Given the description of an element on the screen output the (x, y) to click on. 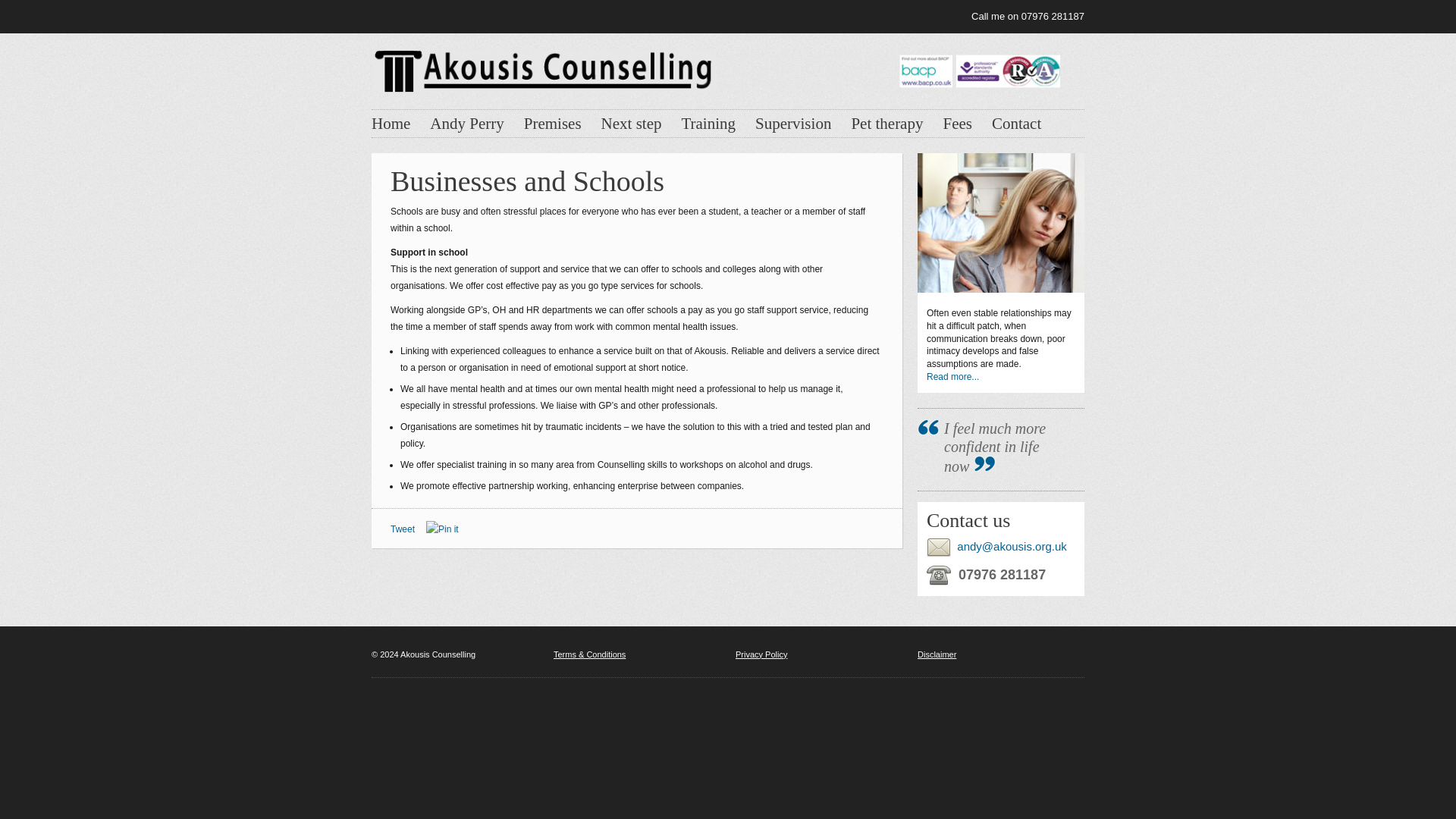
Fees (957, 123)
Andy Perry (466, 123)
akousis.com (715, 66)
Contact (1016, 123)
Next step (631, 123)
Privacy Policy (761, 654)
Tweet (402, 529)
Disclaimer (936, 654)
Call me on 07976 281187 (1027, 16)
Read more... (952, 376)
Premises (552, 123)
Supervision (793, 123)
Pet therapy (886, 123)
Pin it (442, 528)
Training (708, 123)
